Given the description of an element on the screen output the (x, y) to click on. 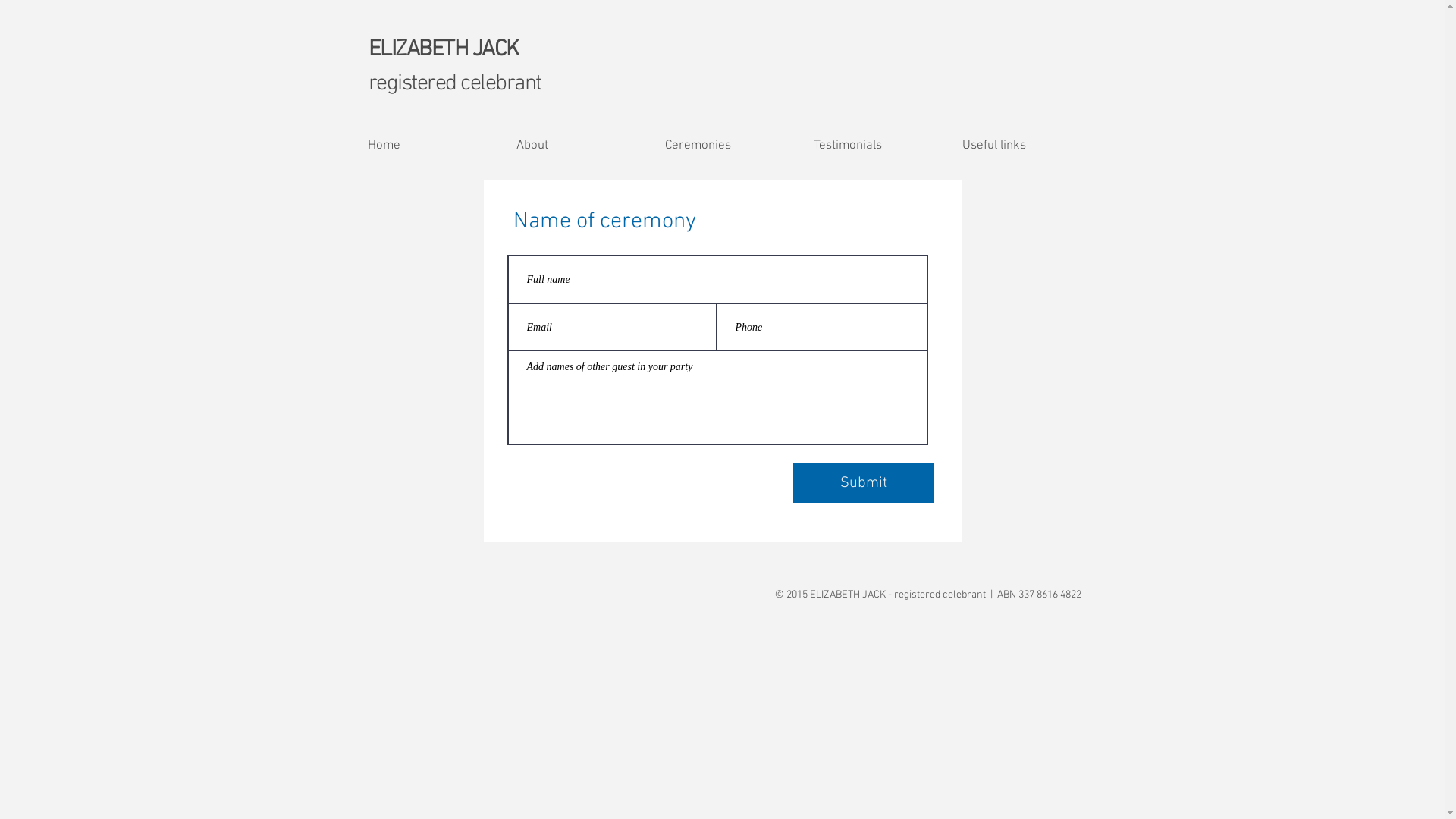
Useful links Element type: text (1018, 138)
Home Element type: text (424, 138)
Ceremonies Element type: text (721, 138)
About Element type: text (572, 138)
Submit Element type: text (863, 482)
Testimonials Element type: text (870, 138)
